Given the description of an element on the screen output the (x, y) to click on. 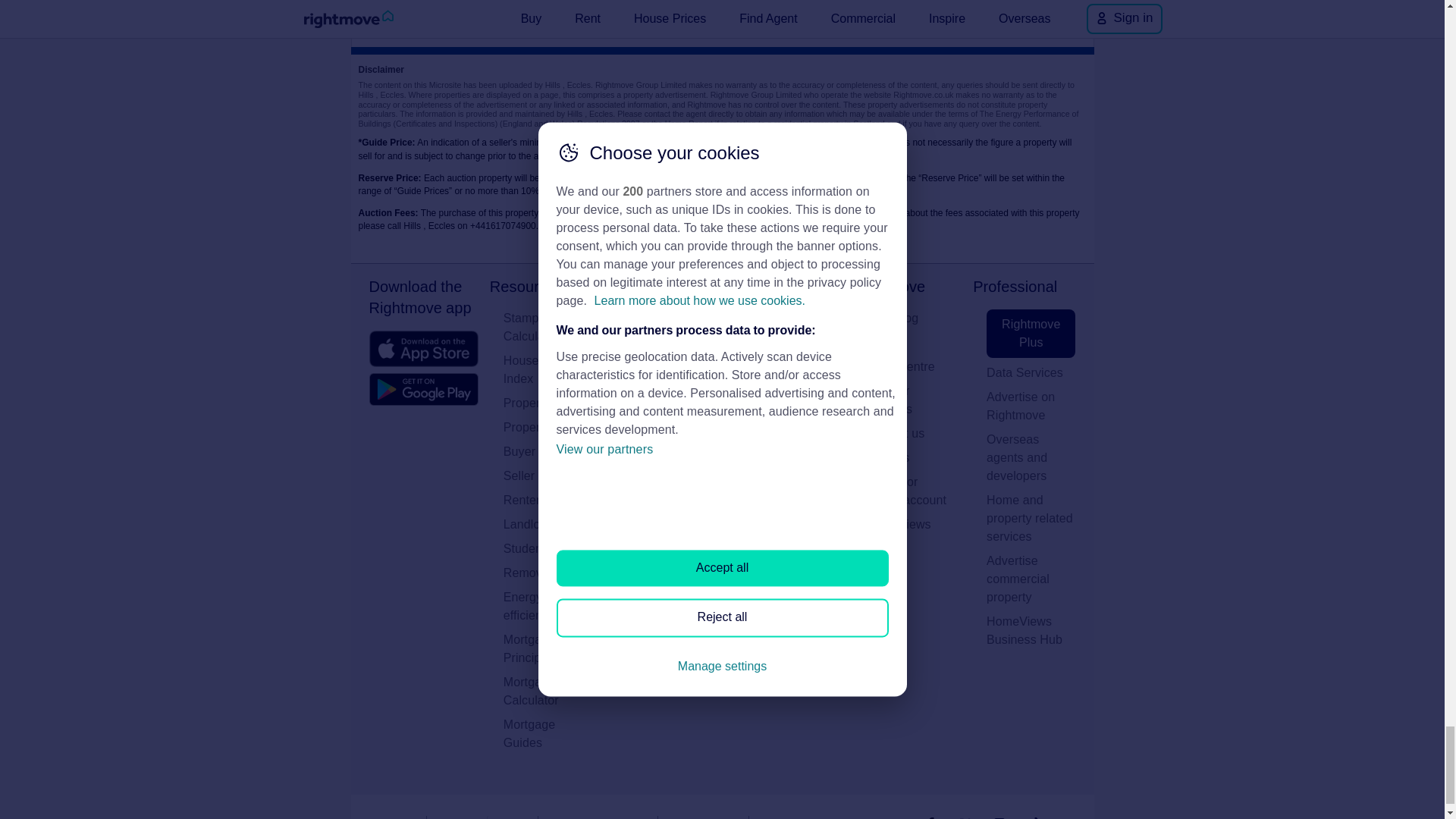
Property news (547, 427)
Stamp duty calculator (547, 327)
Buyer guides (547, 452)
Seller guides (547, 475)
House price index (547, 370)
Property guides (547, 402)
